Given the description of an element on the screen output the (x, y) to click on. 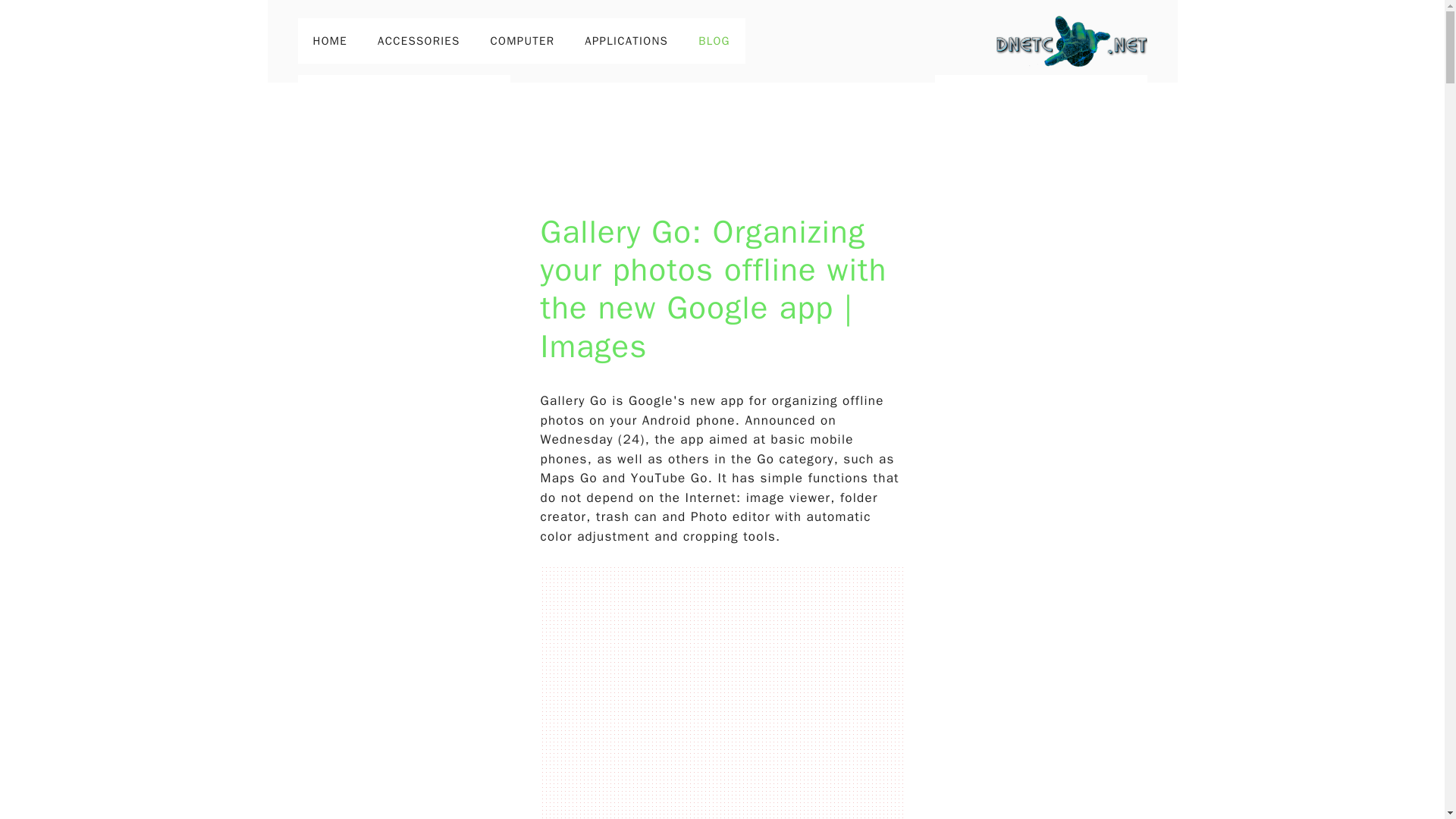
BLOG (713, 40)
ACCESSORIES (419, 40)
COMPUTER (523, 40)
HOME (329, 40)
APPLICATIONS (625, 40)
